Given the description of an element on the screen output the (x, y) to click on. 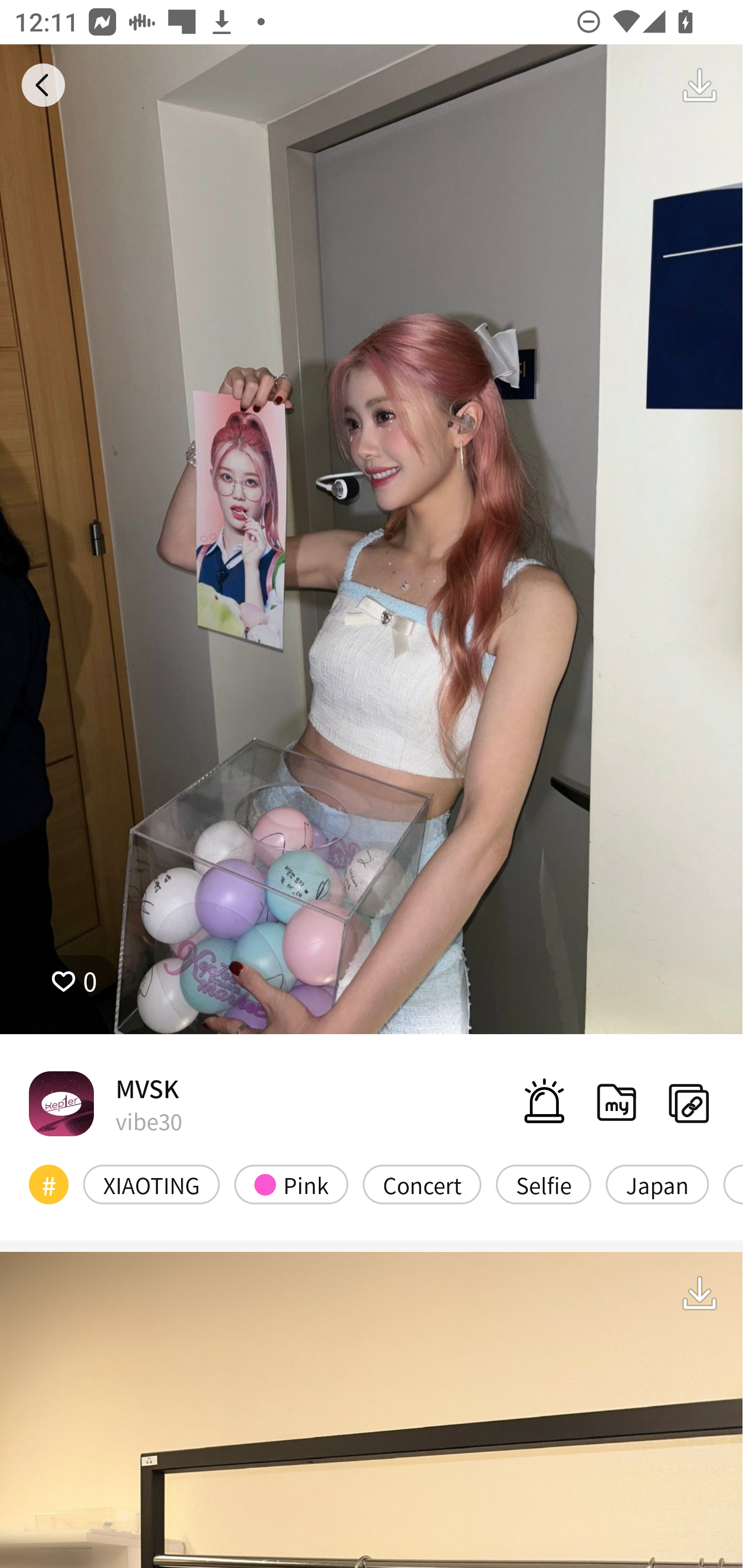
0 (73, 980)
MVSK vibe30 (105, 1102)
XIAOTING (151, 1184)
Pink (291, 1184)
Concert (421, 1184)
Selfie (543, 1184)
Japan (656, 1184)
